Given the description of an element on the screen output the (x, y) to click on. 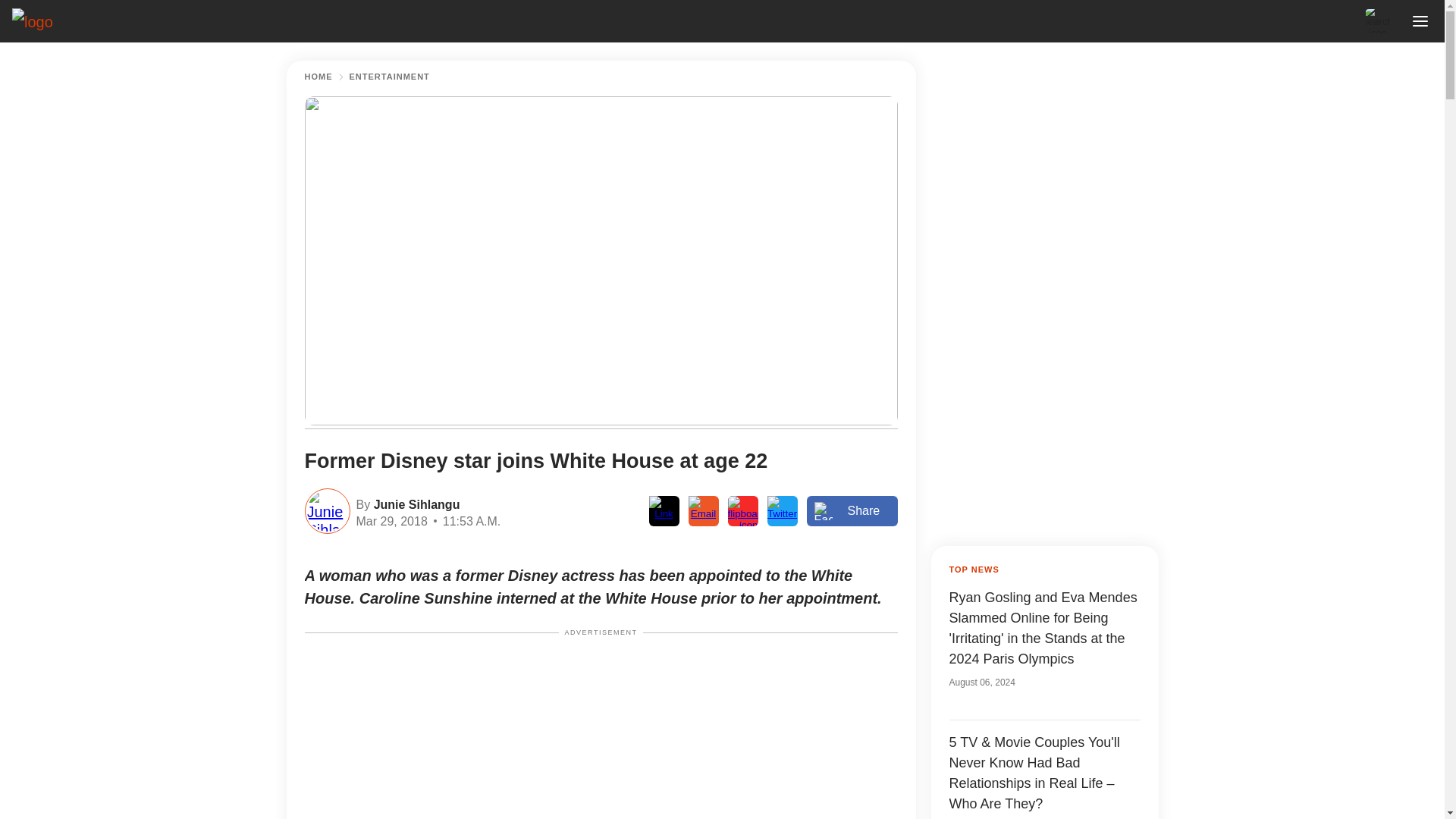
ENTERTAINMENT (389, 76)
HOME (318, 76)
Junie Sihlangu (414, 503)
